Given the description of an element on the screen output the (x, y) to click on. 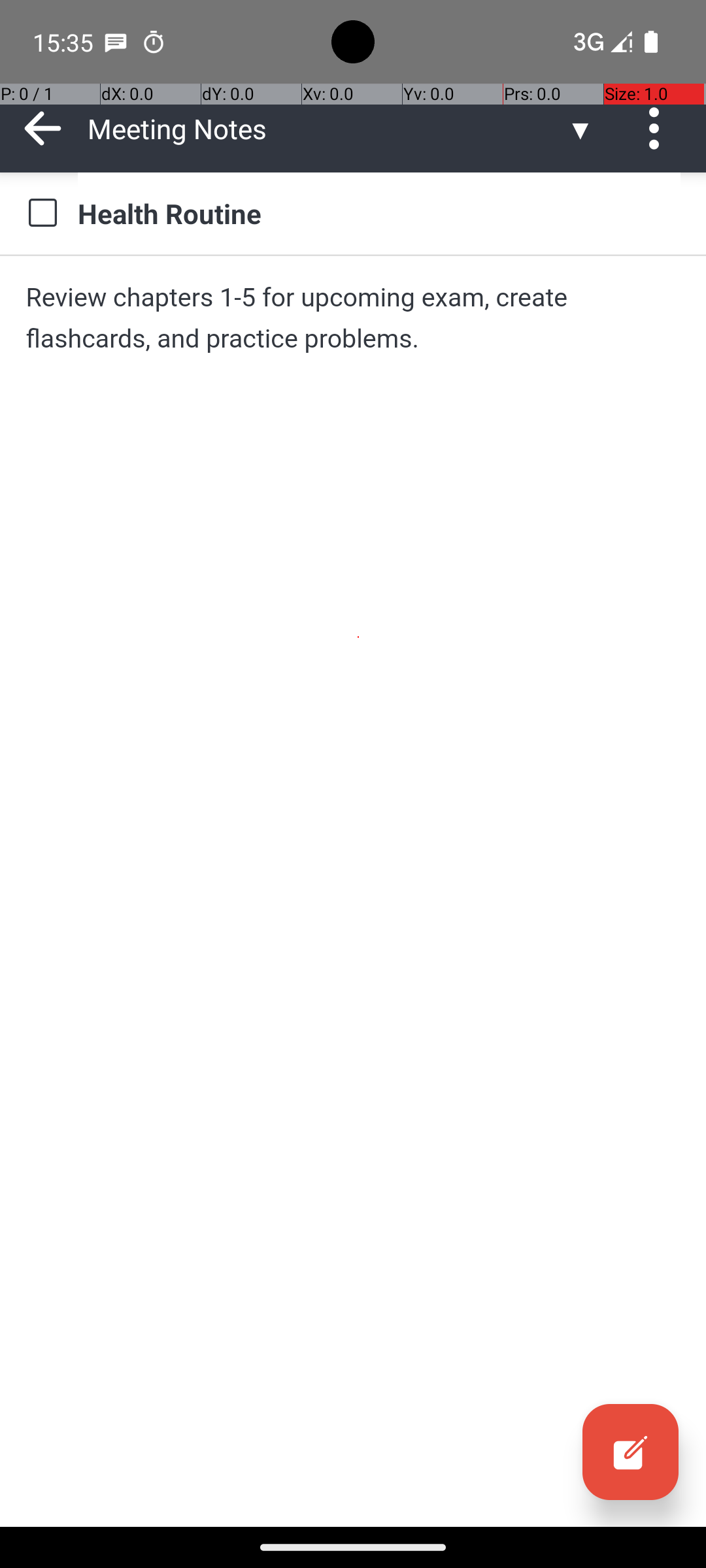
Review chapters 1-5 for upcoming exam, create flashcards, and practice problems. Element type: android.widget.TextView (352, 317)
